Given the description of an element on the screen output the (x, y) to click on. 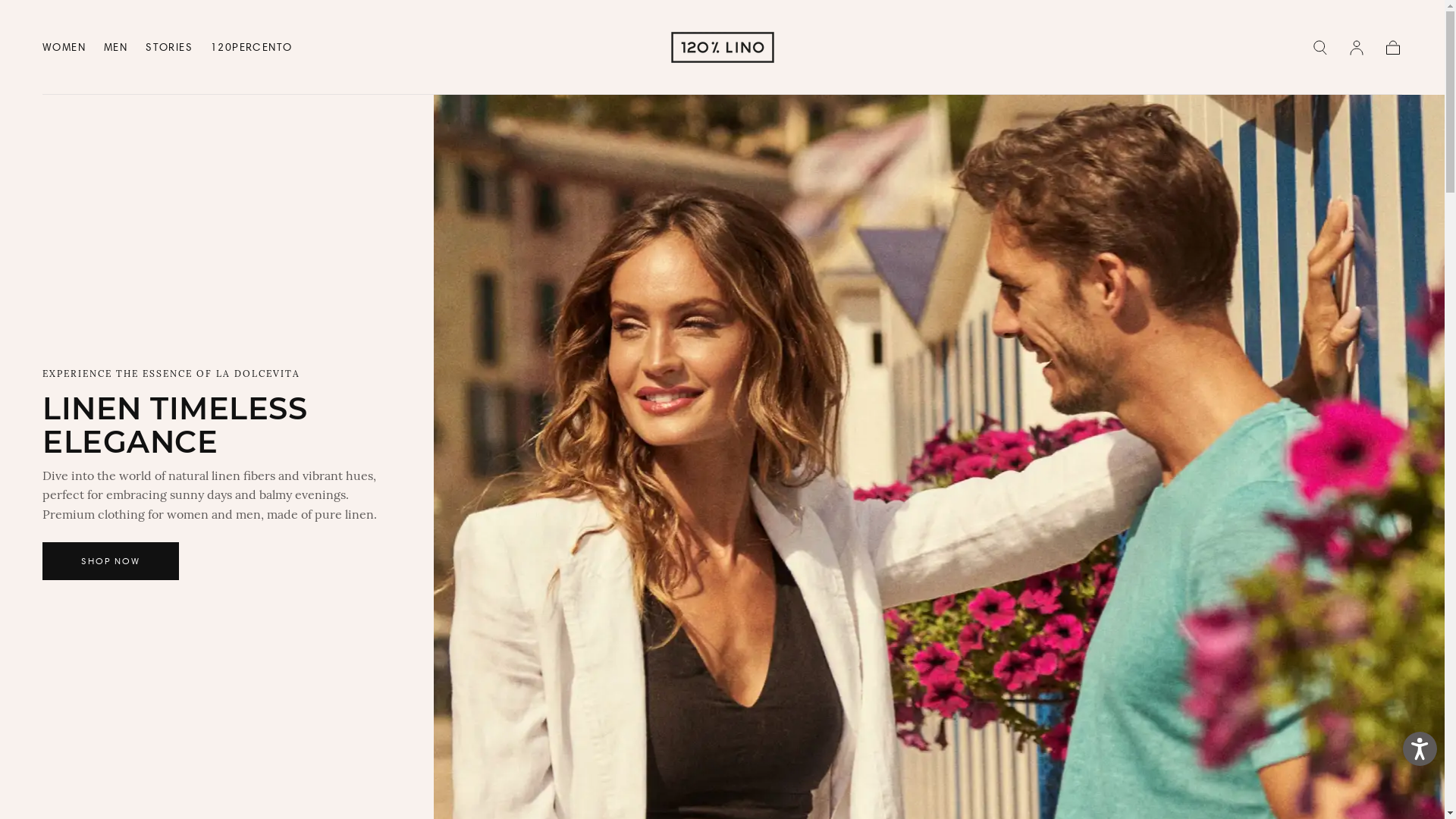
Cart Element type: text (1392, 46)
WOMEN Element type: text (63, 49)
MEN Element type: text (115, 49)
SHOP NOW Element type: text (110, 561)
Sign in Element type: hover (1356, 46)
120PERCENTO Element type: text (250, 49)
STORIES Element type: text (168, 49)
